Given the description of an element on the screen output the (x, y) to click on. 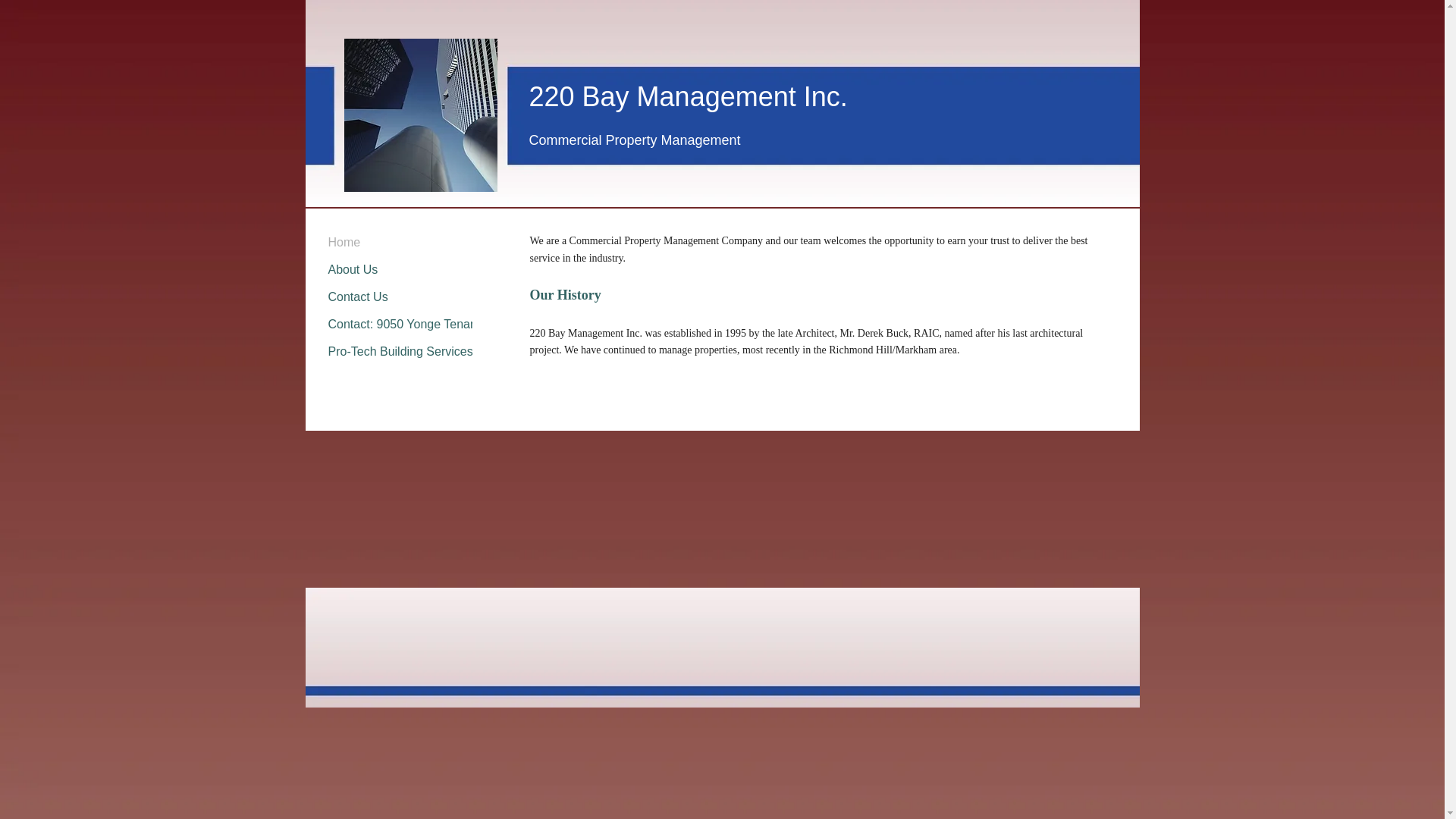
Contact: 9050 Yonge Tenants Element type: text (406, 323)
Pro-Tech Building Services Element type: text (400, 351)
About Us Element type: text (352, 269)
Home Element type: text (343, 241)
Contact Us Element type: text (357, 296)
